Given the description of an element on the screen output the (x, y) to click on. 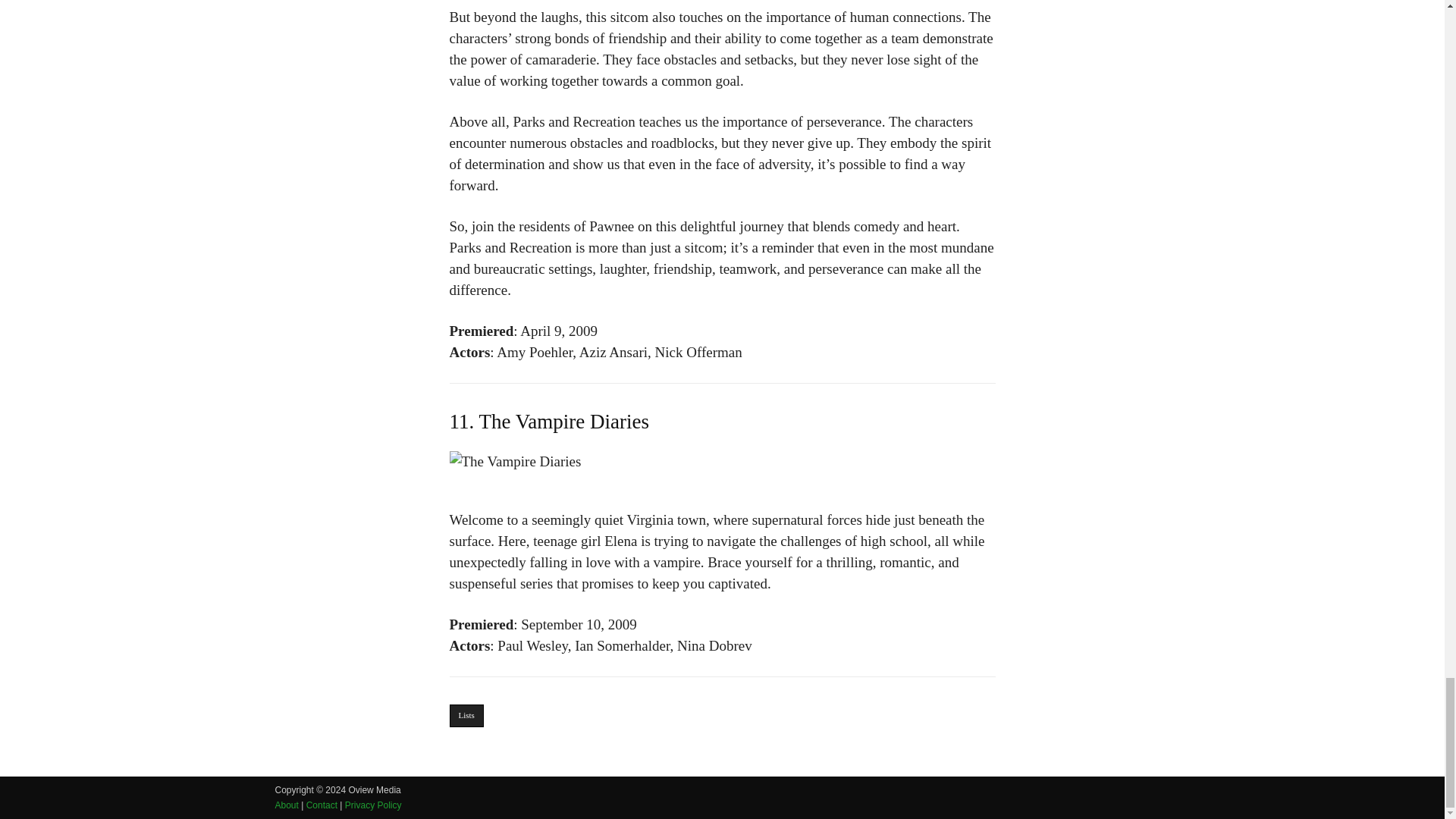
Contact (321, 805)
Privacy Policy (373, 805)
Lists (465, 715)
About (286, 805)
